Given the description of an element on the screen output the (x, y) to click on. 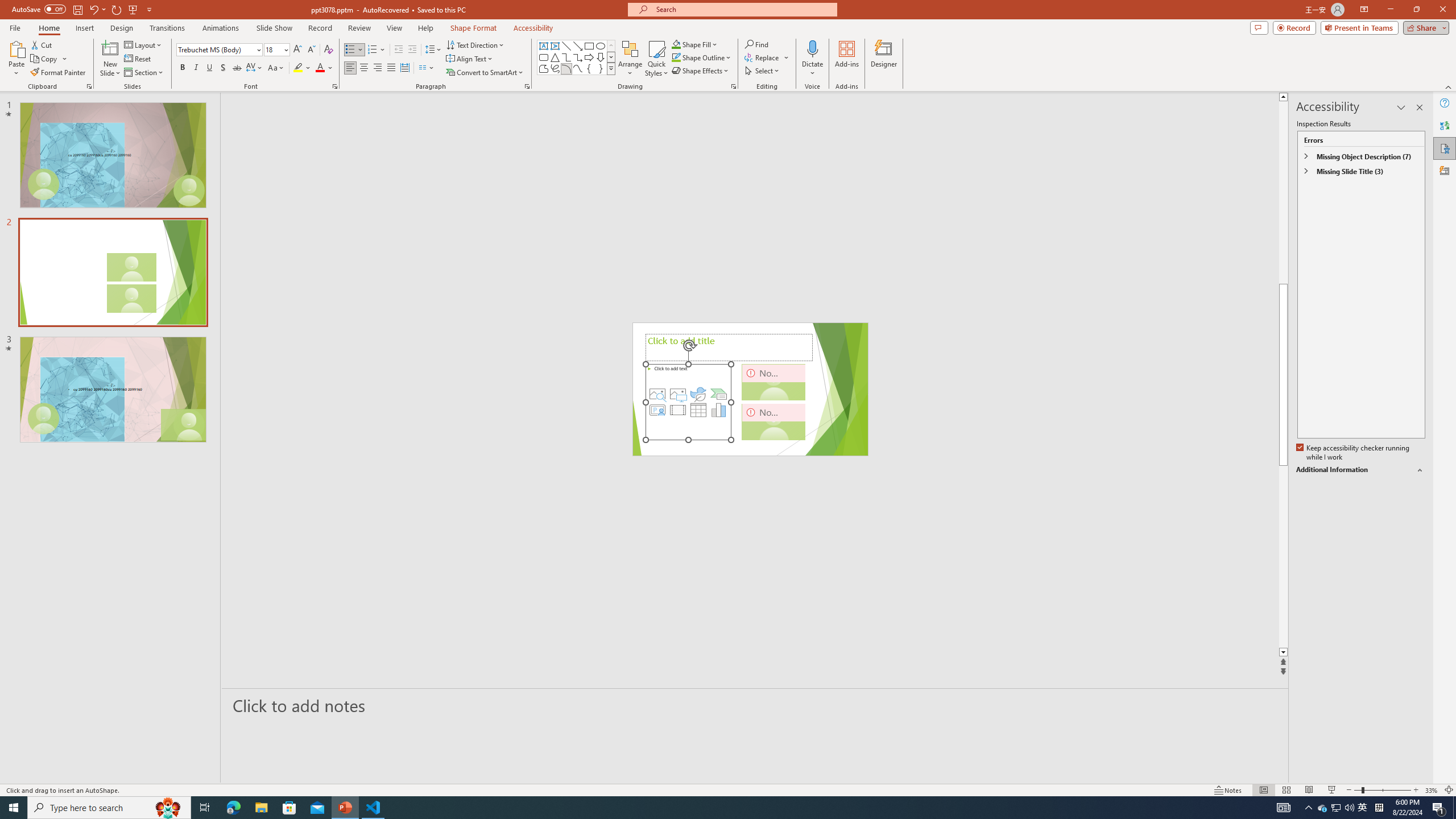
Insert Chart (719, 409)
Stock Images (656, 394)
